Given the description of an element on the screen output the (x, y) to click on. 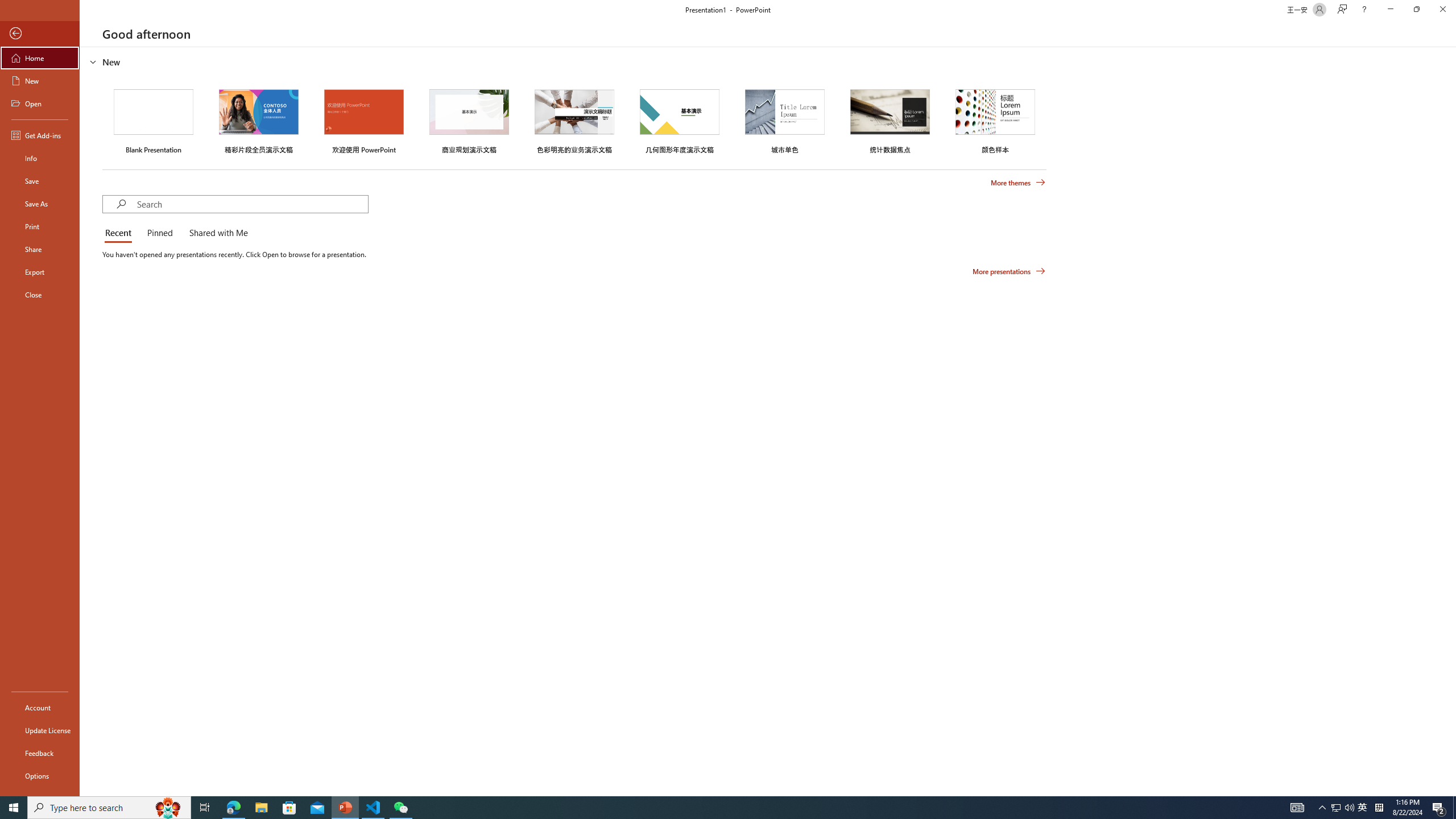
Recent (119, 233)
Shared with Me (215, 233)
New (40, 80)
More presentations (1008, 270)
Info (40, 157)
Blank Presentation (153, 119)
